Given the description of an element on the screen output the (x, y) to click on. 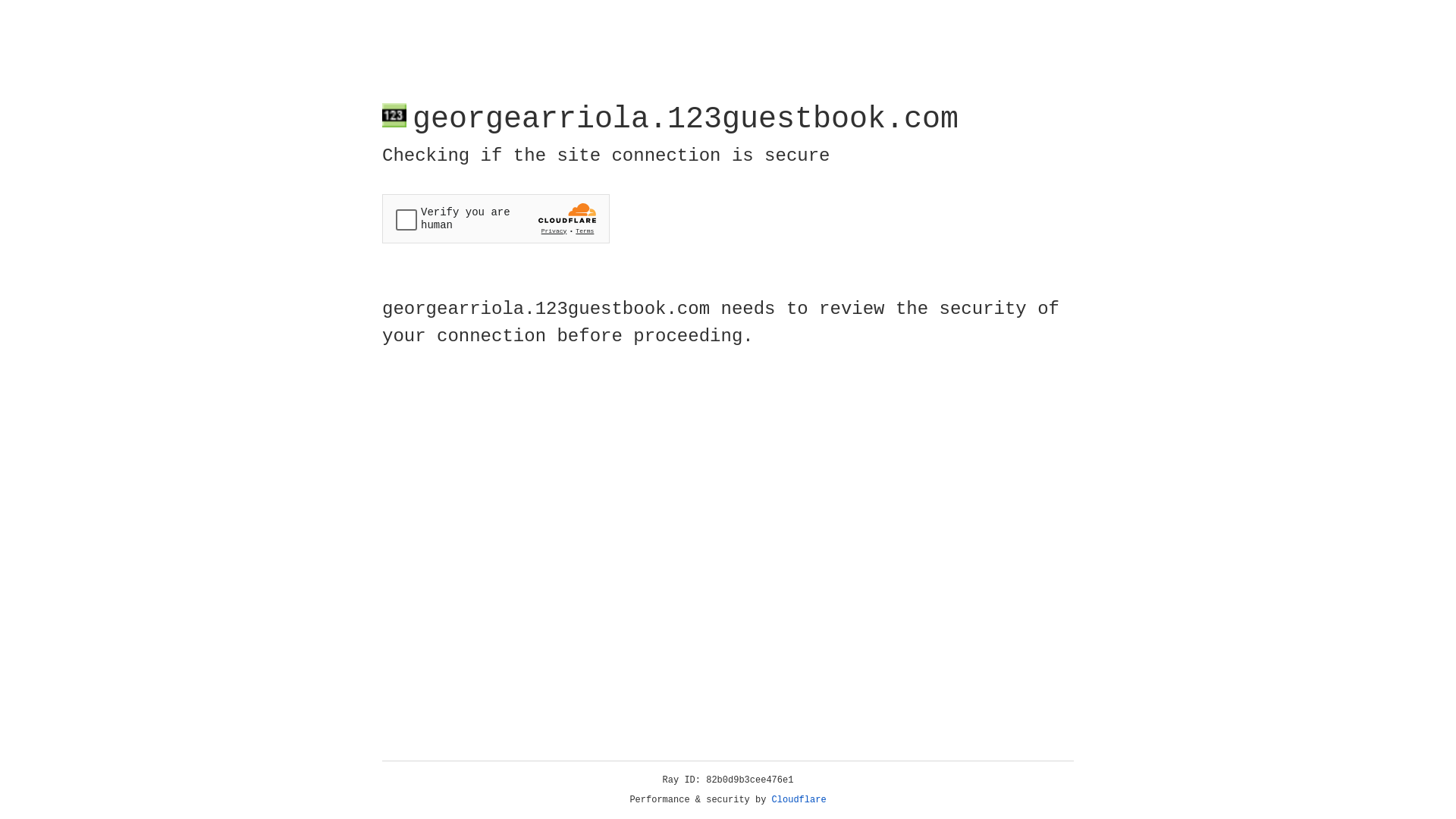
Cloudflare Element type: text (798, 799)
Widget containing a Cloudflare security challenge Element type: hover (495, 218)
